Given the description of an element on the screen output the (x, y) to click on. 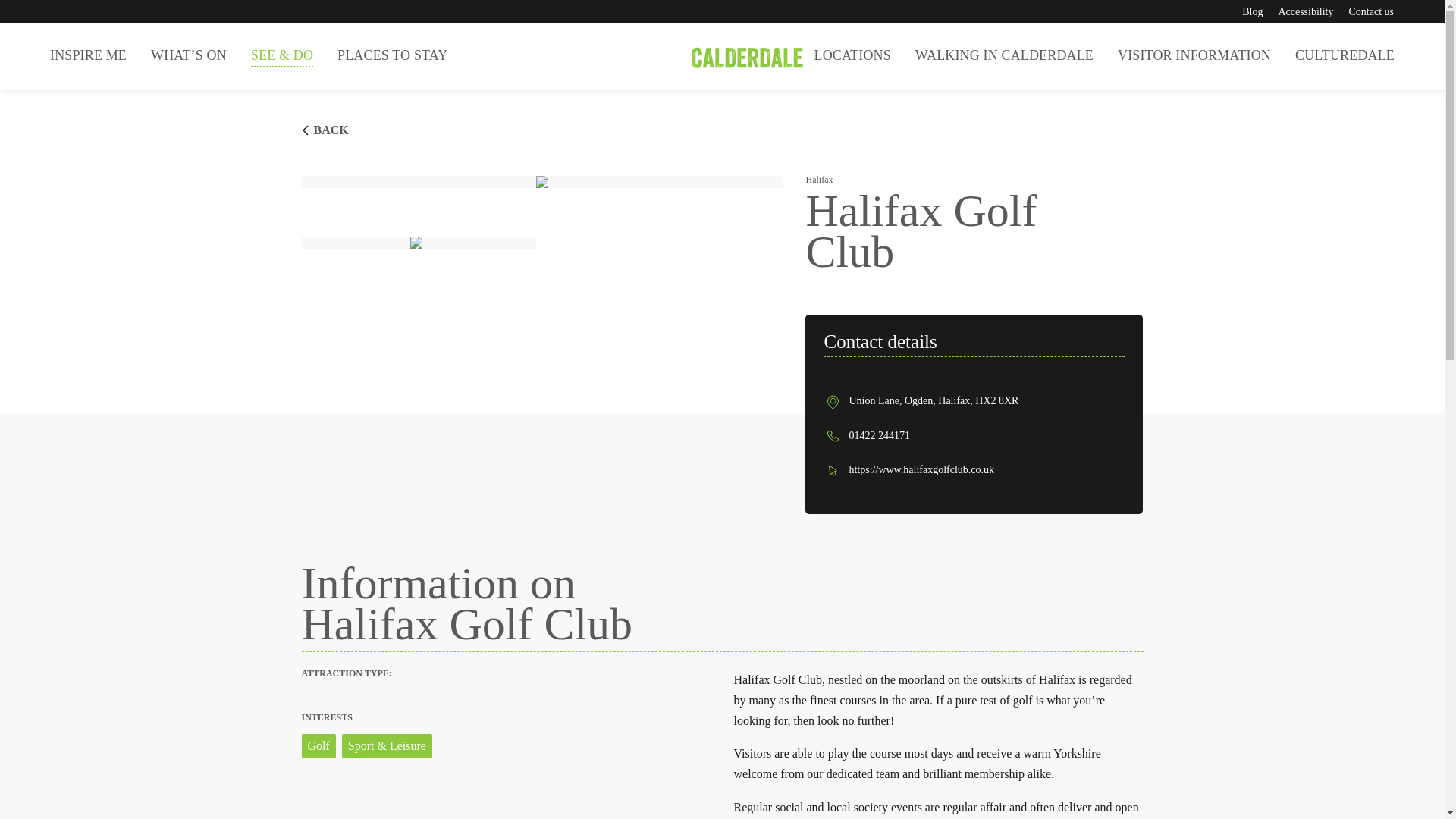
What's on (188, 55)
Inspire me (87, 55)
Visit Calderdale (722, 56)
